Given the description of an element on the screen output the (x, y) to click on. 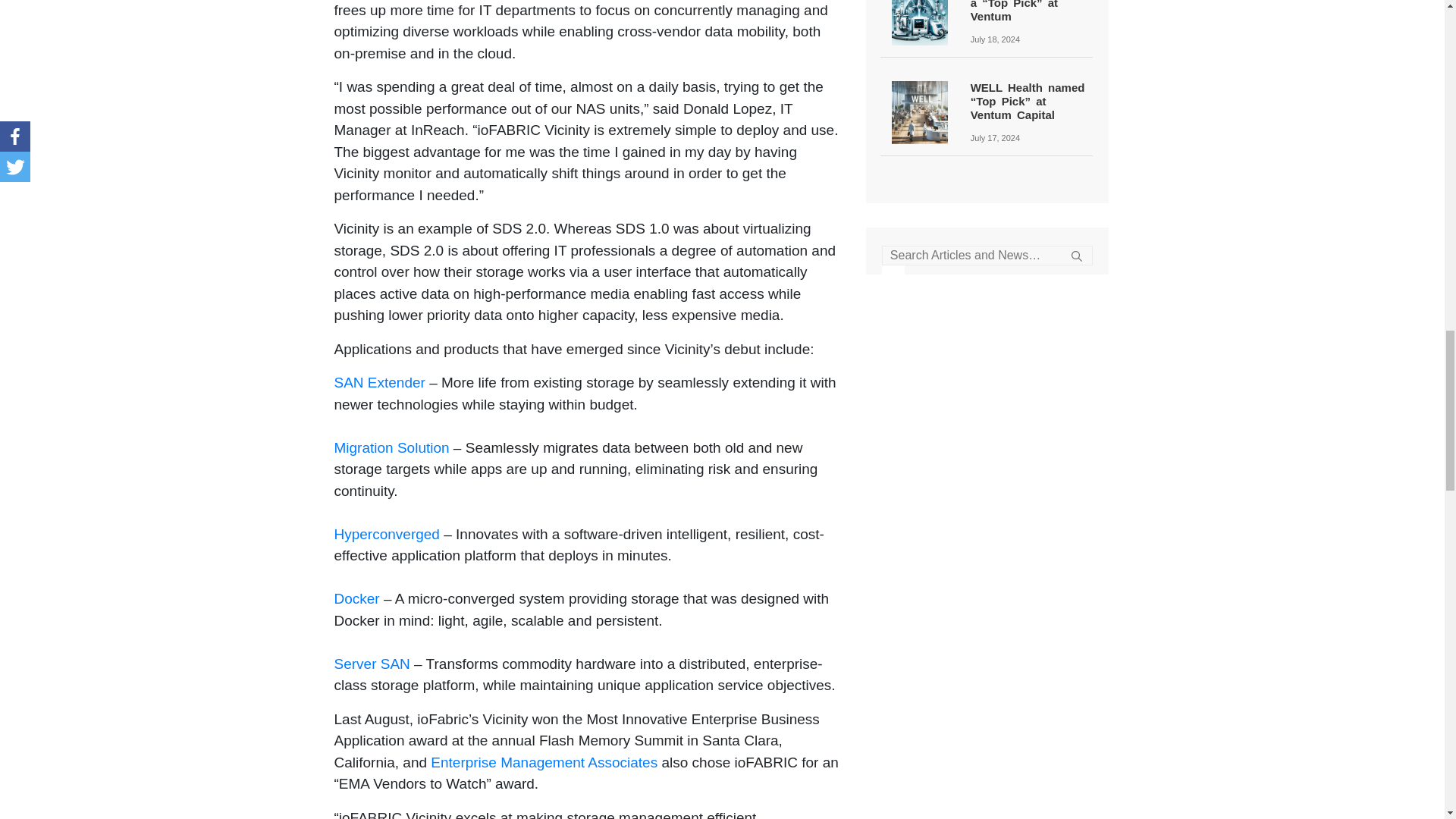
SAN Extender (379, 382)
